Given the description of an element on the screen output the (x, y) to click on. 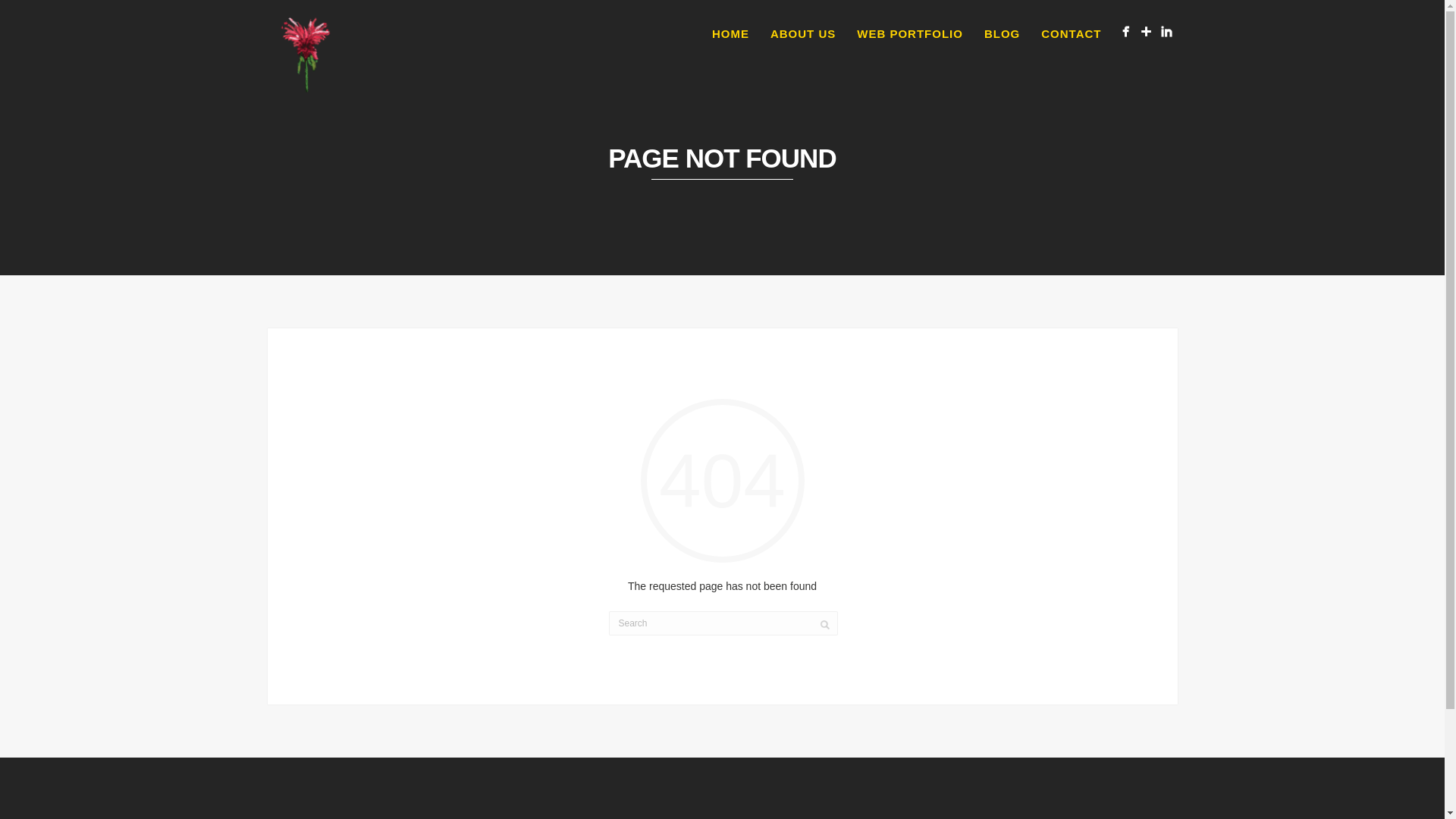
CONTACT (1071, 33)
ABOUT US (802, 33)
WEB PORTFOLIO (909, 33)
BLOG (1002, 33)
HOME (730, 33)
